Given the description of an element on the screen output the (x, y) to click on. 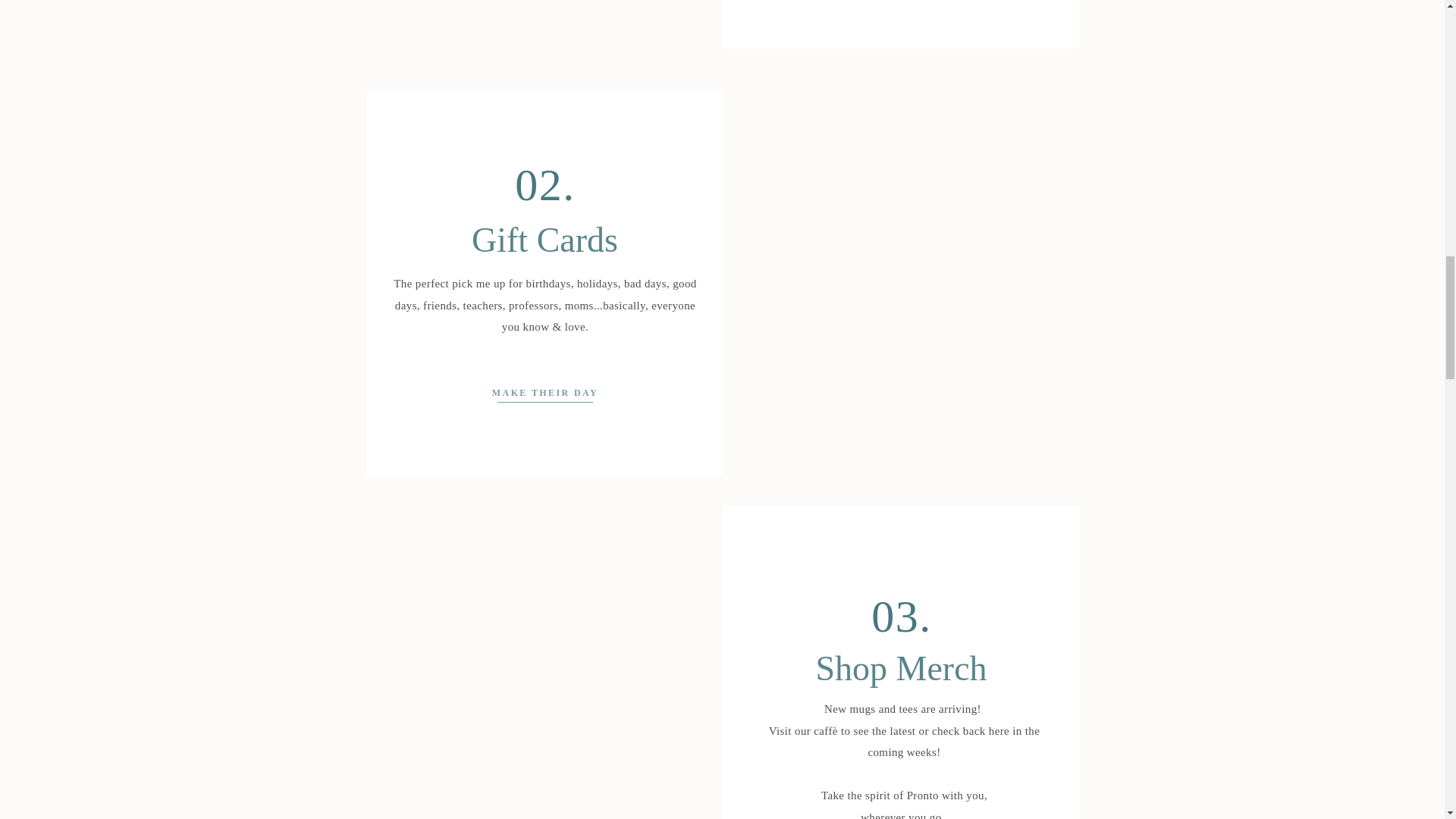
MAKE THEIR DAY (544, 390)
